Given the description of an element on the screen output the (x, y) to click on. 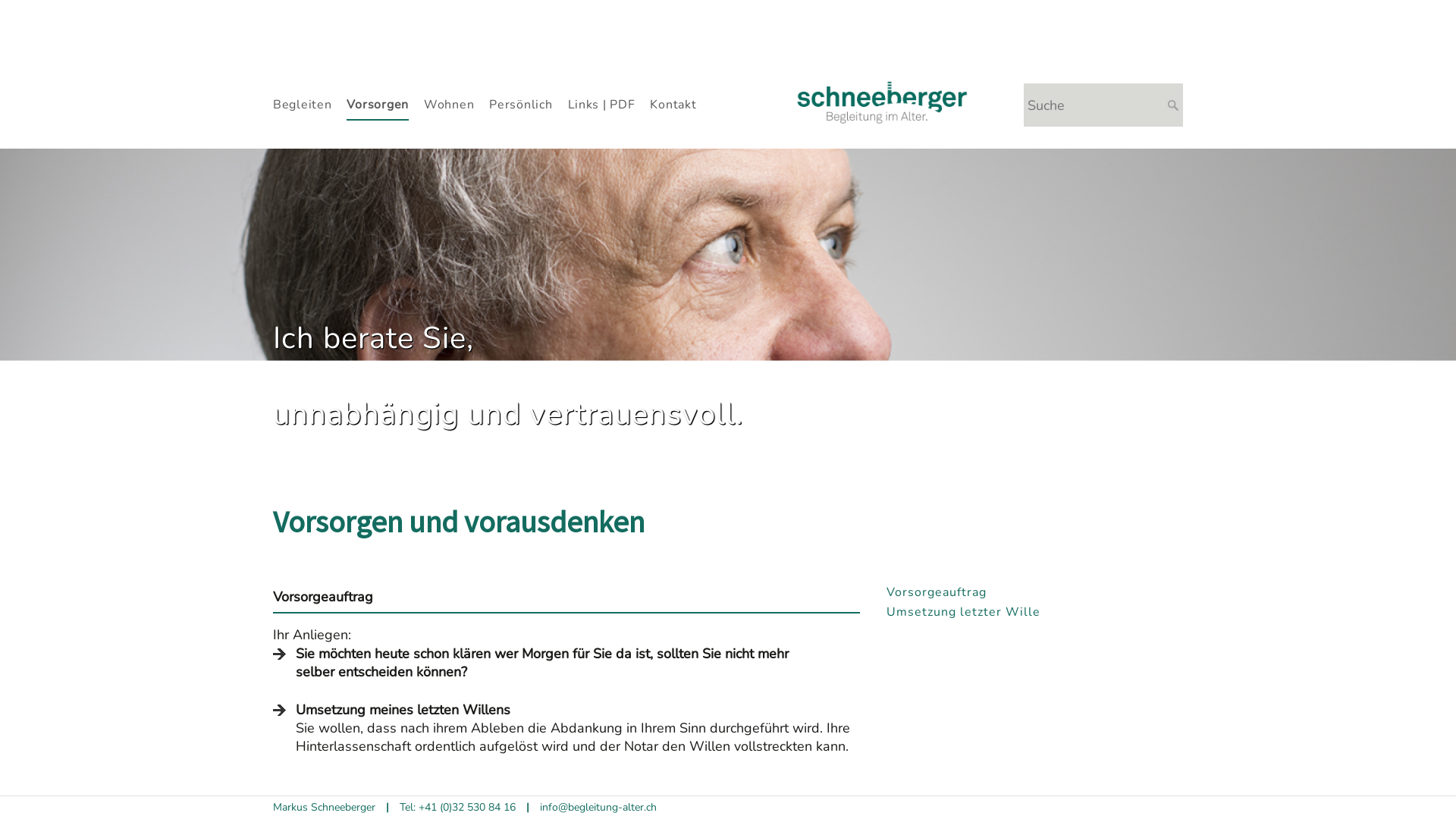
info@begleitung-alter.ch Element type: text (597, 807)
Tel: +41 (0)32 530 84 16 Element type: text (457, 807)
Begleiten Element type: text (302, 107)
Vorsorgen Element type: text (376, 108)
Wohnen Element type: text (448, 107)
Direkt zum Inhalt Element type: text (0, 0)
Kontakt Element type: text (672, 107)
Umsetzung letzter Wille Element type: text (1032, 611)
Vorsorgeauftrag Element type: text (1032, 592)
Links | PDF Element type: text (600, 107)
